Given the description of an element on the screen output the (x, y) to click on. 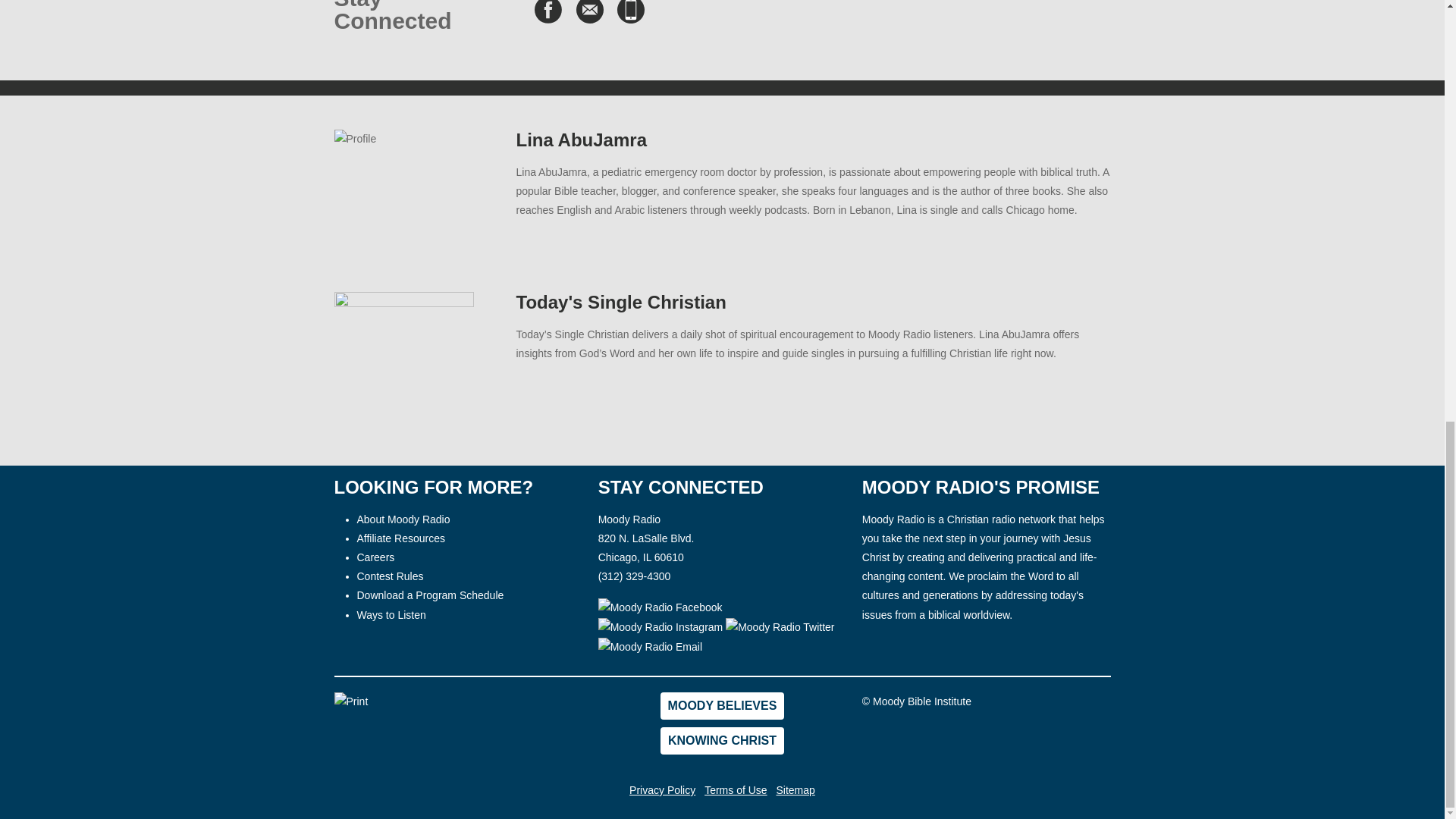
Moody Radio Twitter (779, 625)
Moody Radio Instagram (660, 627)
Moody Radio Facebook (660, 606)
Today's Single Christian on Facebook (548, 11)
Moody Radio App (631, 11)
Moody Radio Instagram (662, 625)
Moody Radio Email (649, 647)
Moody Radio Facebook (660, 607)
Moody Radio Twitter (779, 627)
Privacy Policy (661, 789)
